Given the description of an element on the screen output the (x, y) to click on. 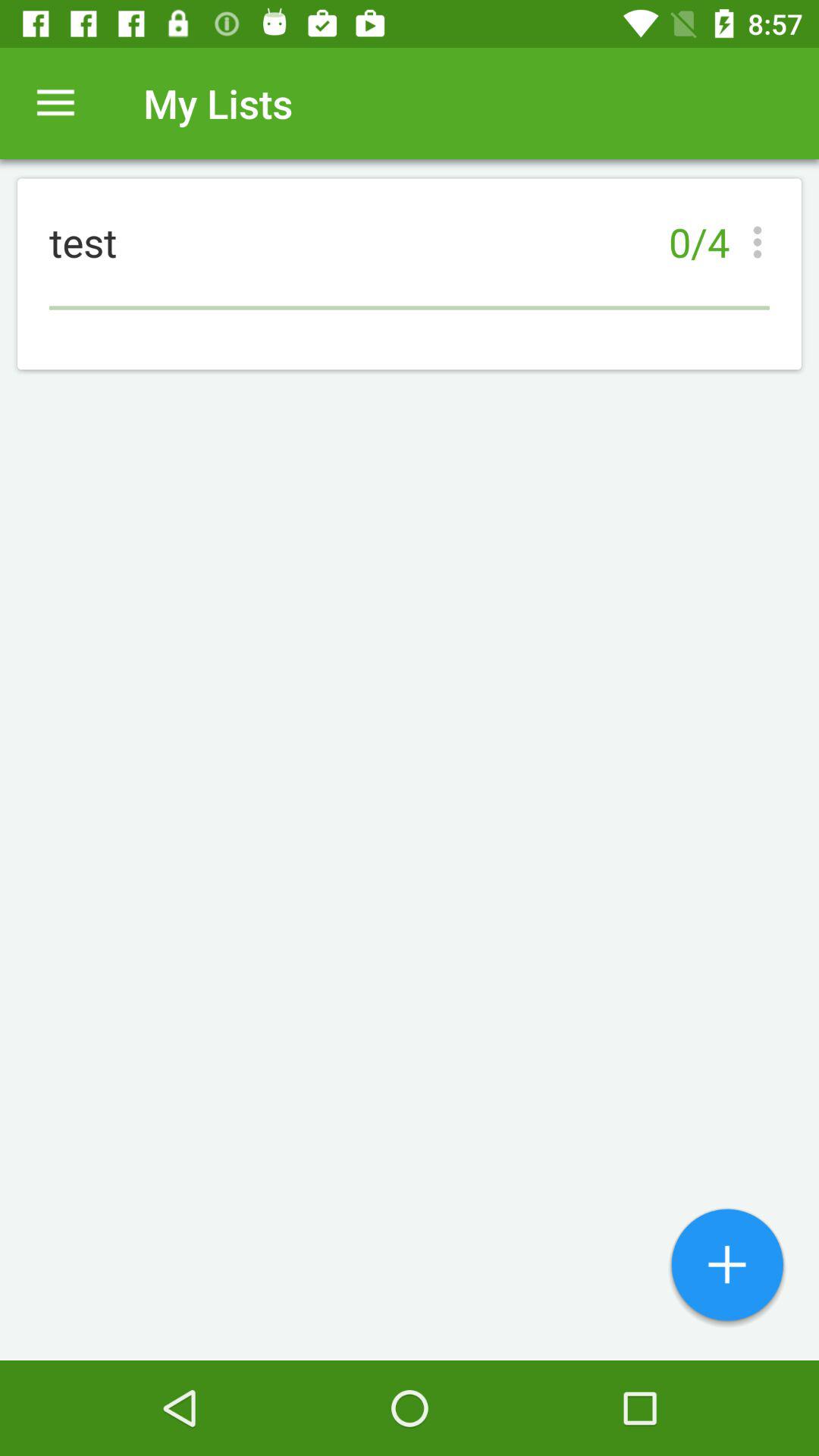
click item next to the my lists icon (55, 103)
